Given the description of an element on the screen output the (x, y) to click on. 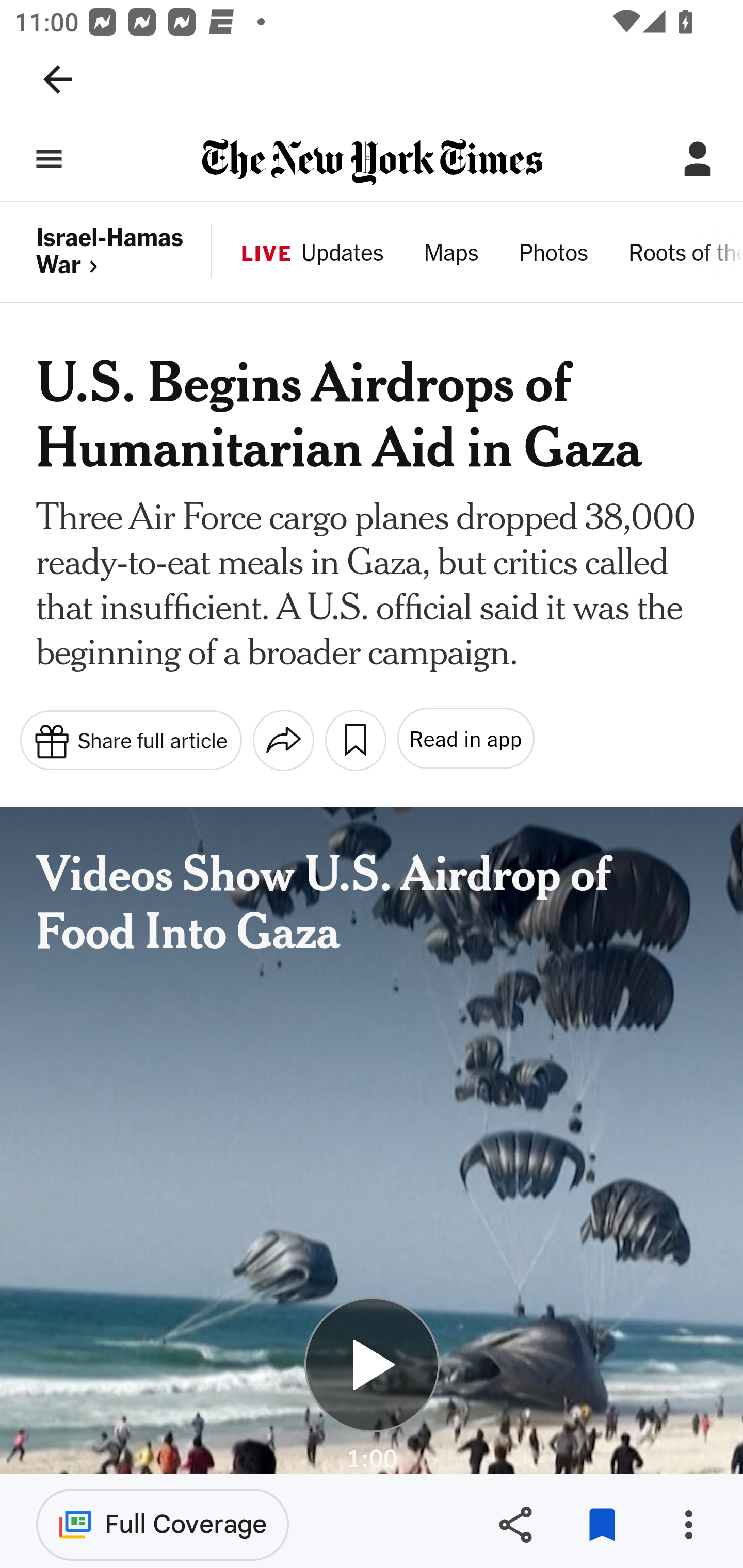
Navigate up (57, 79)
SKIP TO CONTENT (117, 146)
SEARCH & SECTION NAVIGATION (48, 159)
Log in (697, 159)
New York Times homepage (371, 162)
Israel-Hamas War› Israel-Hamas War › (124, 251)
Updates (341, 254)
Maps (451, 254)
Photos (552, 254)
More sharing options ... (283, 740)
Save article for reading later... (355, 740)
Read in app (464, 738)
Share full article (129, 738)
Share (514, 1524)
Remove from saved stories (601, 1524)
More options (688, 1524)
Full Coverage (162, 1524)
